Given the description of an element on the screen output the (x, y) to click on. 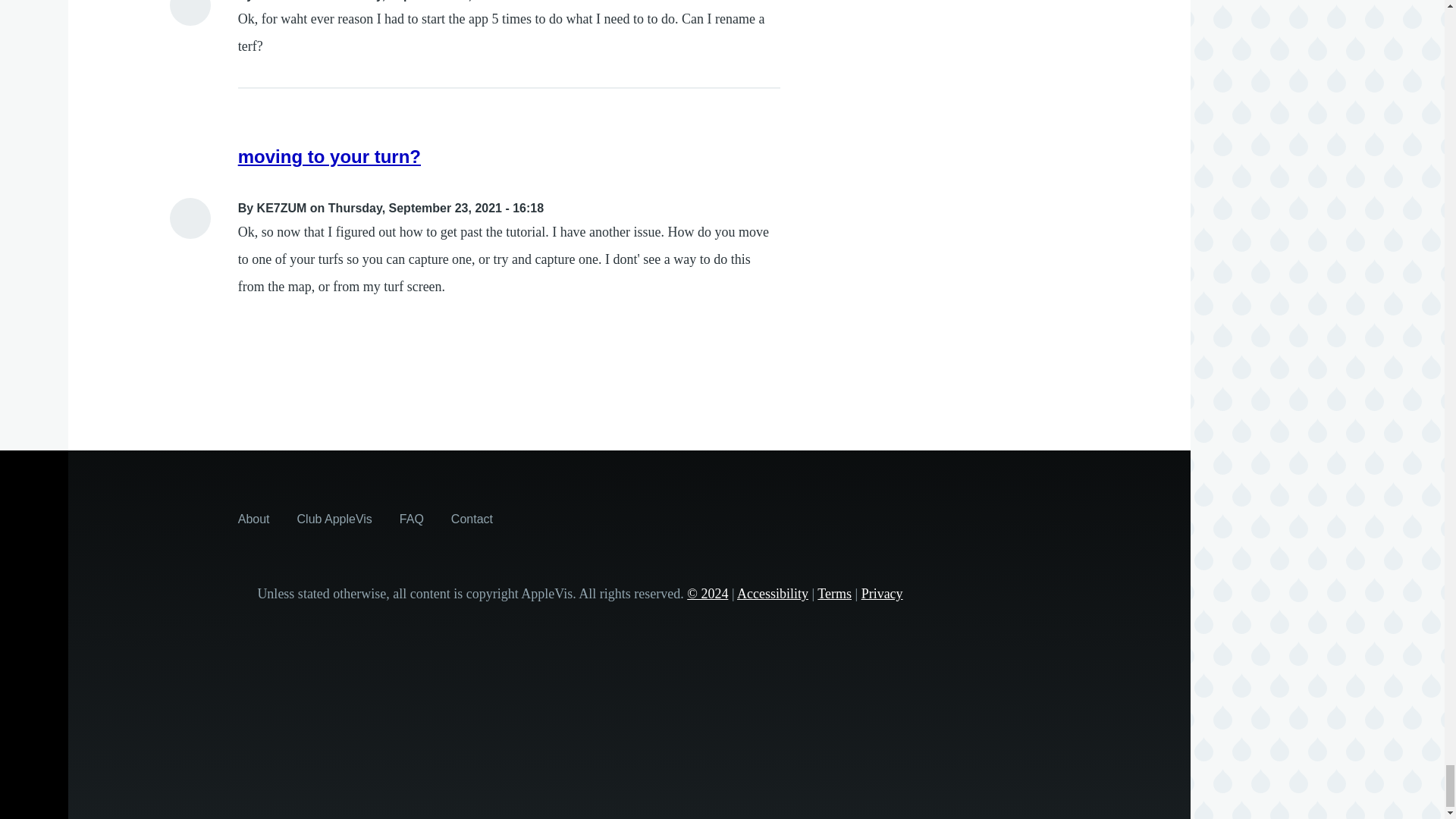
About (253, 518)
Answers to some frequently asked questions about AppleVis (410, 518)
